Given the description of an element on the screen output the (x, y) to click on. 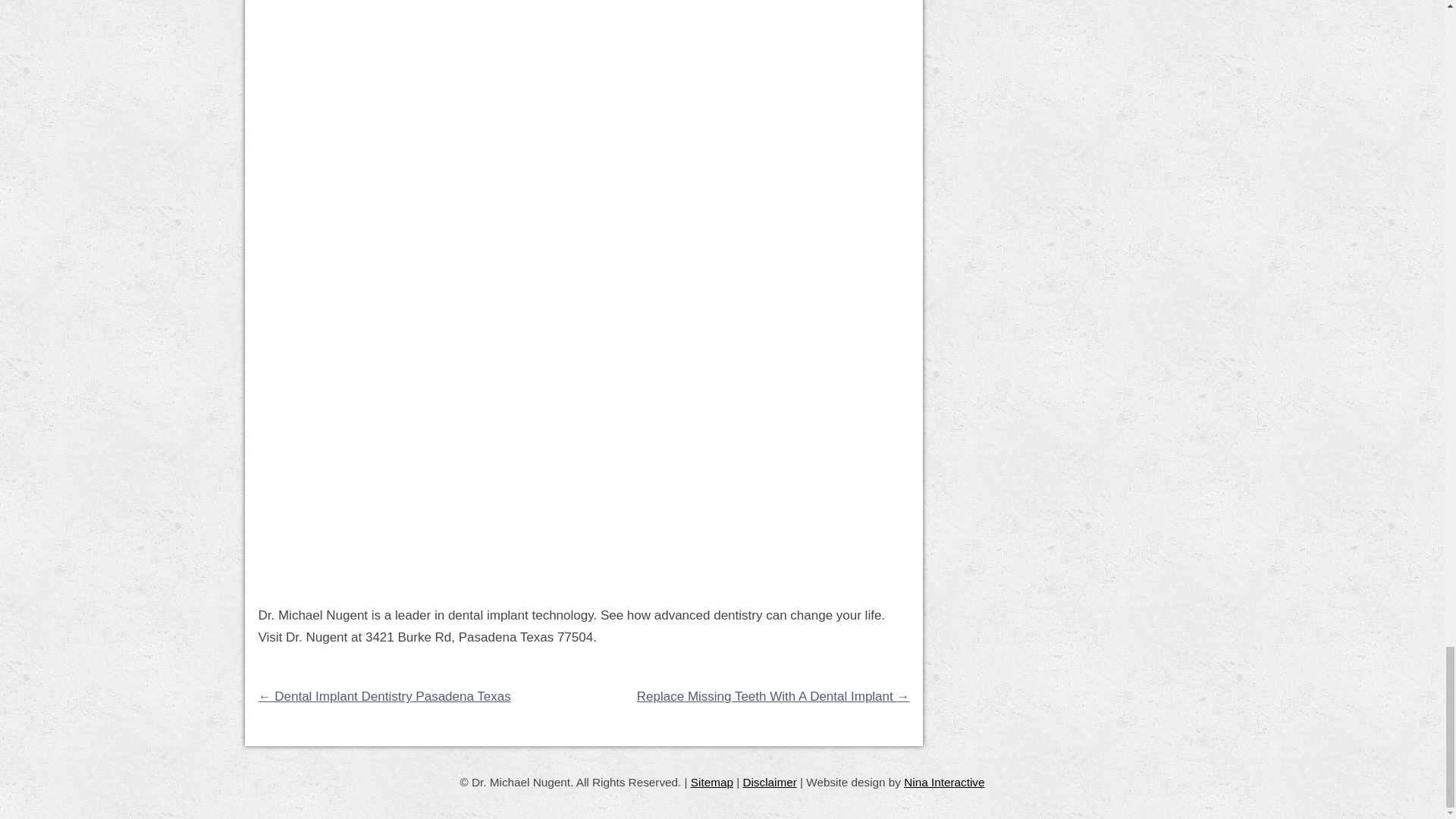
Sitemap (711, 781)
Disclaimer (769, 781)
Nina Interactive (944, 781)
